Given the description of an element on the screen output the (x, y) to click on. 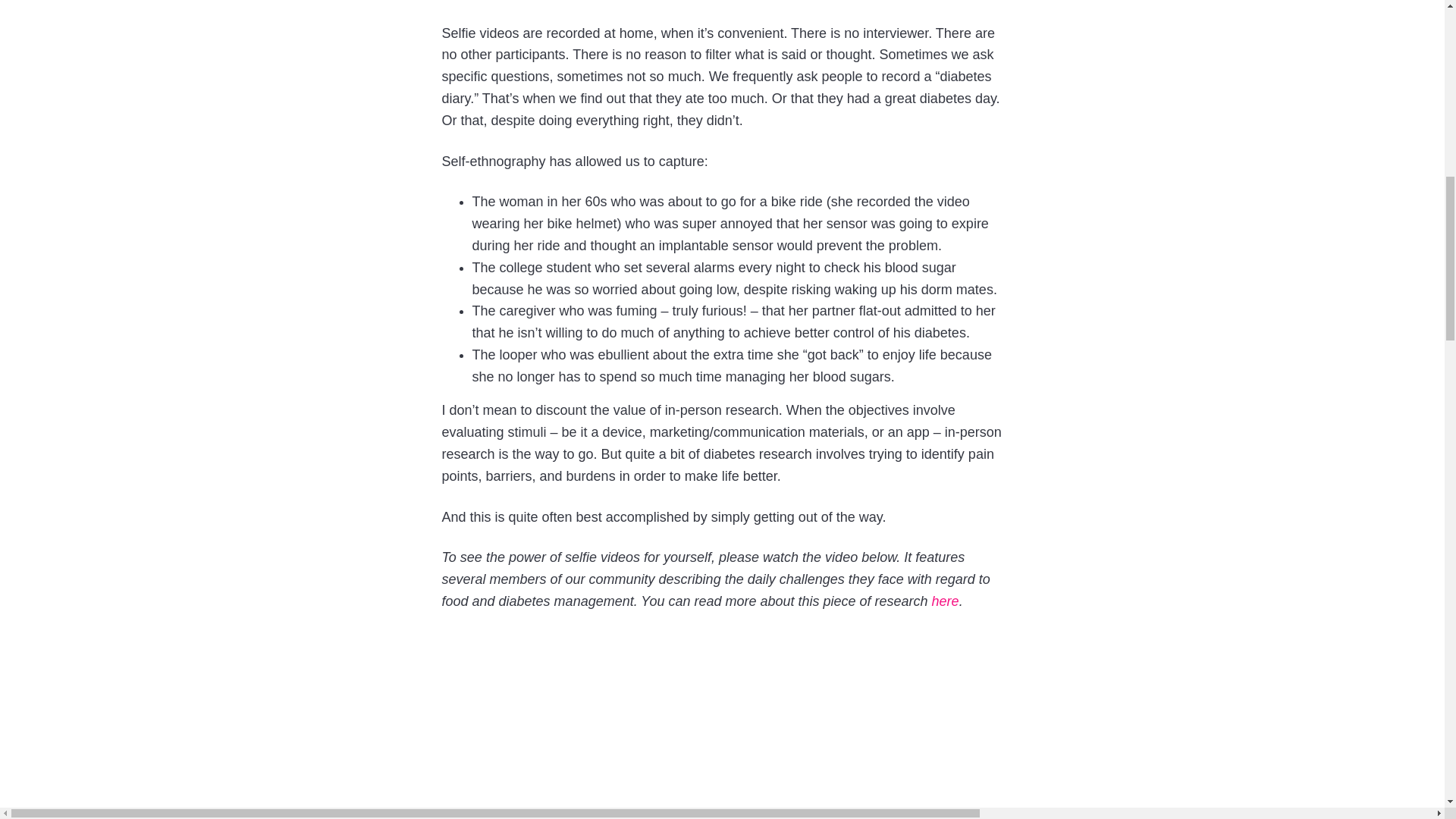
here (945, 601)
